Given the description of an element on the screen output the (x, y) to click on. 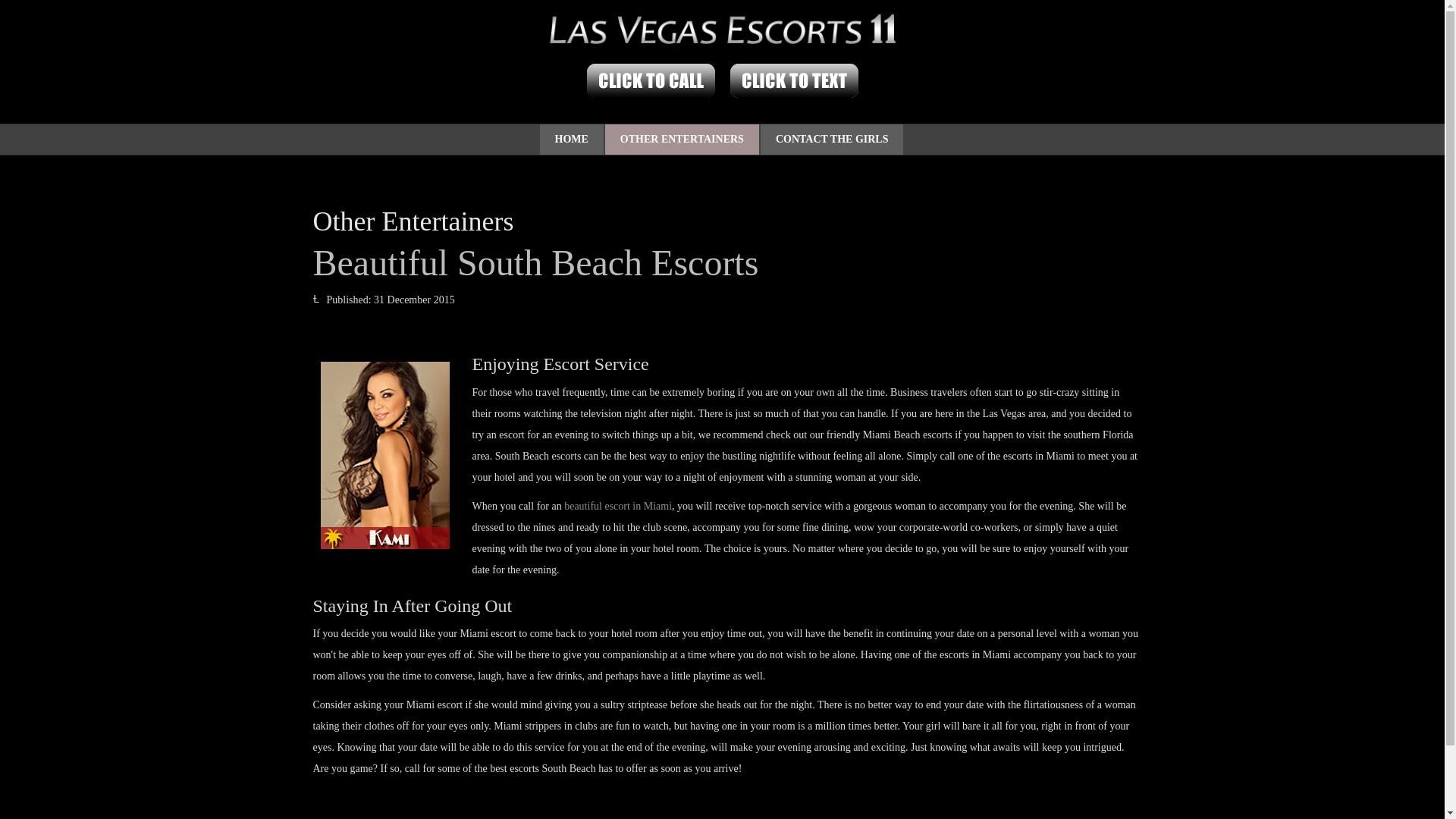
HOME (572, 139)
CONTACT THE GIRLS (832, 139)
Stunning South Beach Escorts (384, 454)
beautiful escort in Miami (617, 505)
OTHER ENTERTAINERS (681, 139)
